Given the description of an element on the screen output the (x, y) to click on. 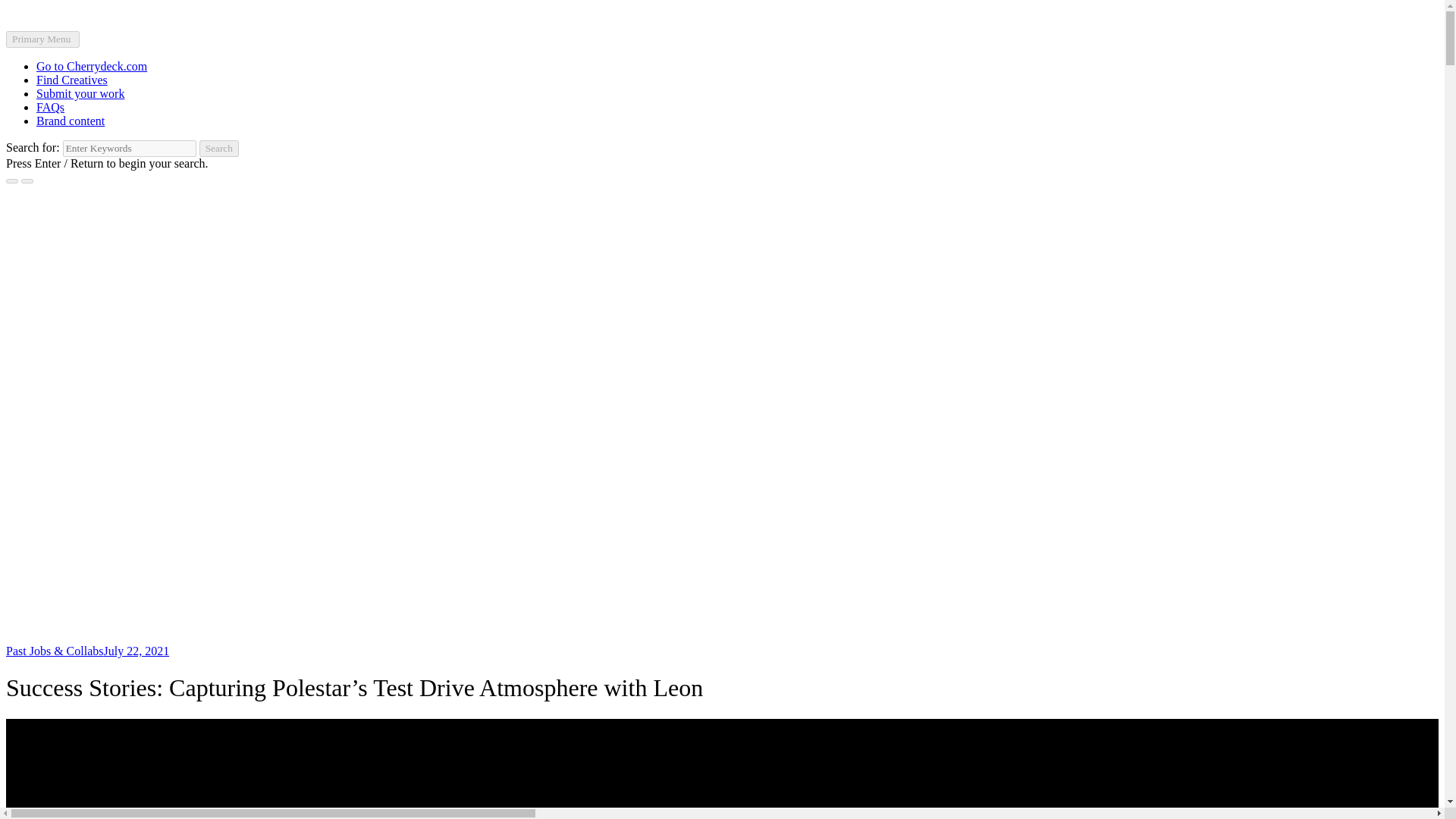
Search (218, 148)
Go to Cherrydeck.com (91, 65)
Brand content (70, 120)
July 22, 2021 (135, 650)
FAQs (50, 106)
Submit your work (79, 92)
Skip to content (42, 11)
Search (218, 148)
Search (218, 148)
Cherrydeck (33, 49)
Primary Menu  (42, 39)
Find Creatives (71, 79)
